Given the description of an element on the screen output the (x, y) to click on. 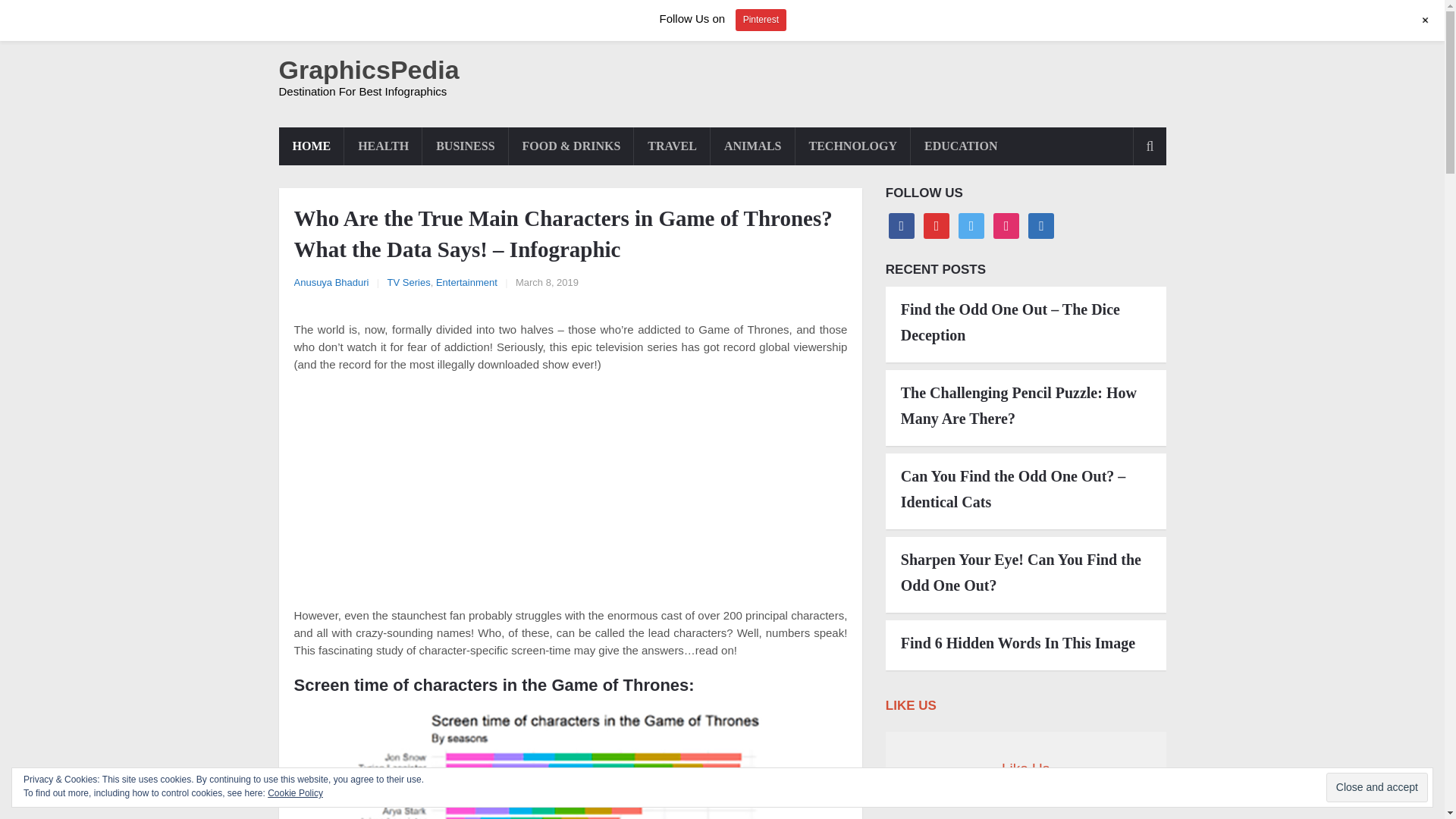
Find 6 Hidden Words In This Image (1026, 642)
Pinterest (760, 20)
Follow (936, 224)
TV Series (408, 282)
View all posts in Entertainment (466, 282)
Anusuya Bhaduri (331, 282)
Follow (1005, 224)
Follow (971, 224)
HEALTH (382, 146)
Close and accept (1377, 787)
